Given the description of an element on the screen output the (x, y) to click on. 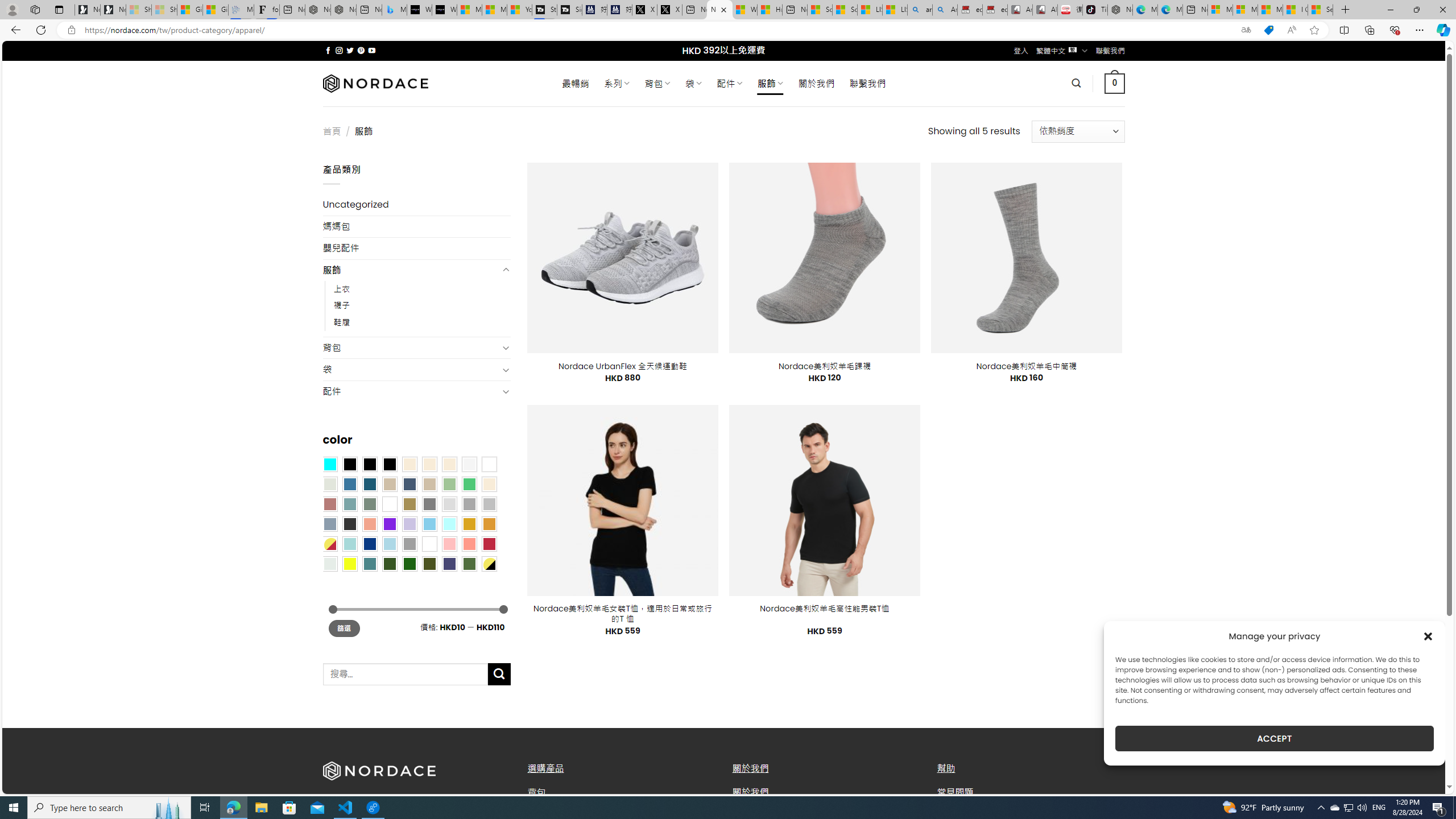
Follow on Instagram (338, 50)
X (669, 9)
